Given the description of an element on the screen output the (x, y) to click on. 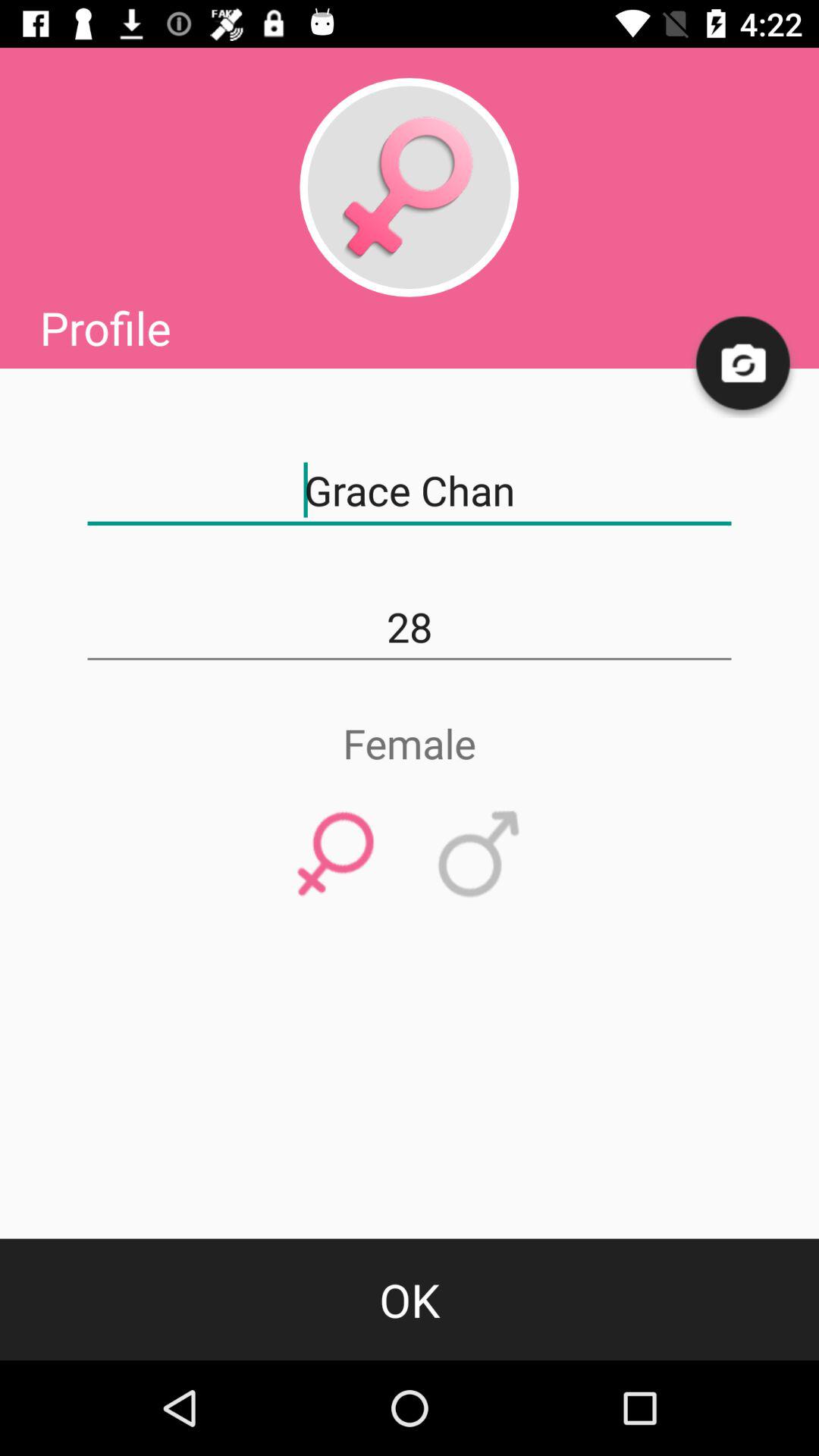
launch item above the 28 item (409, 490)
